Given the description of an element on the screen output the (x, y) to click on. 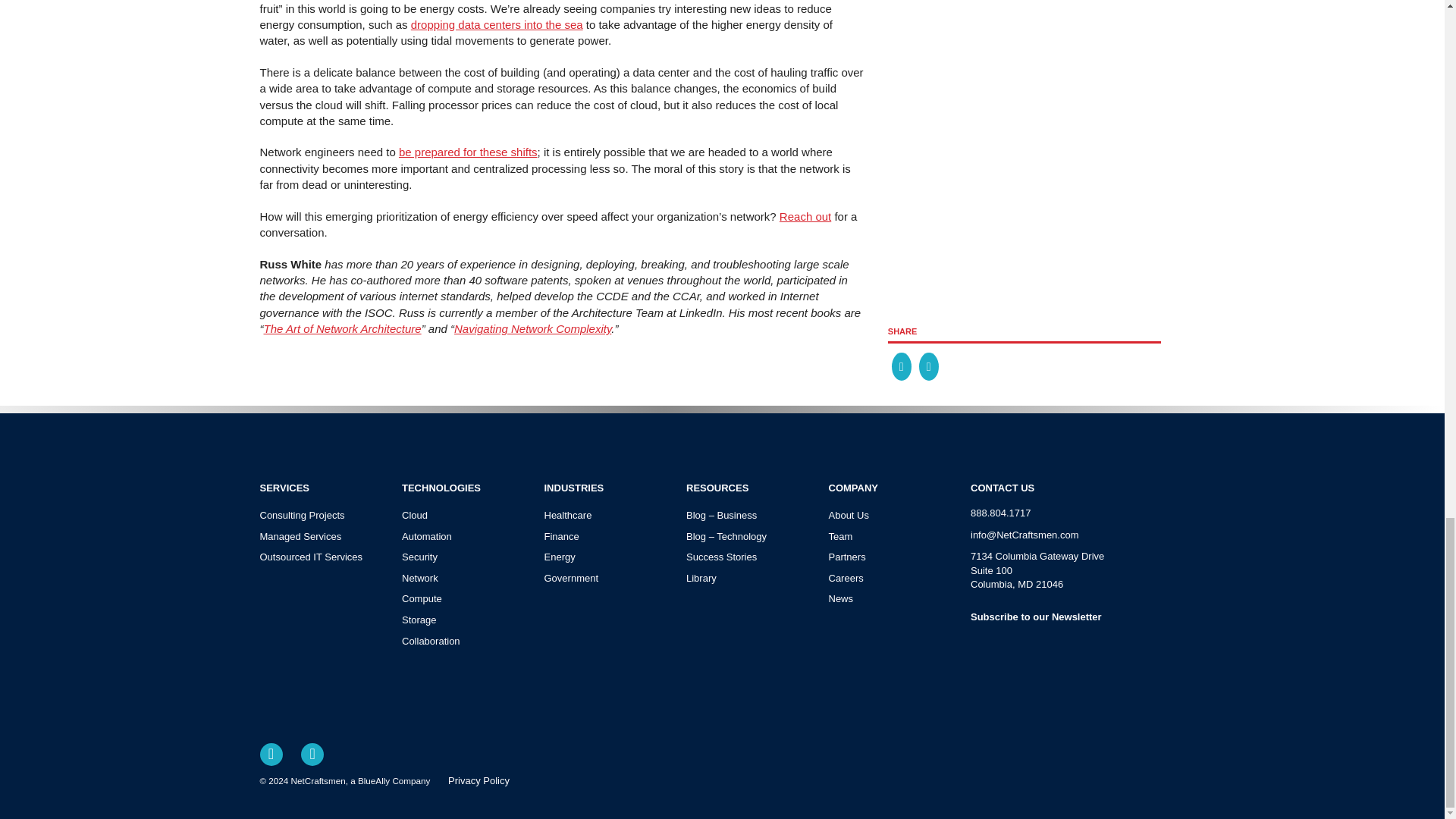
be prepared for these shifts (467, 151)
Reach out (804, 215)
phone (1078, 513)
email (1078, 535)
dropping data centers into the sea (496, 24)
